Given the description of an element on the screen output the (x, y) to click on. 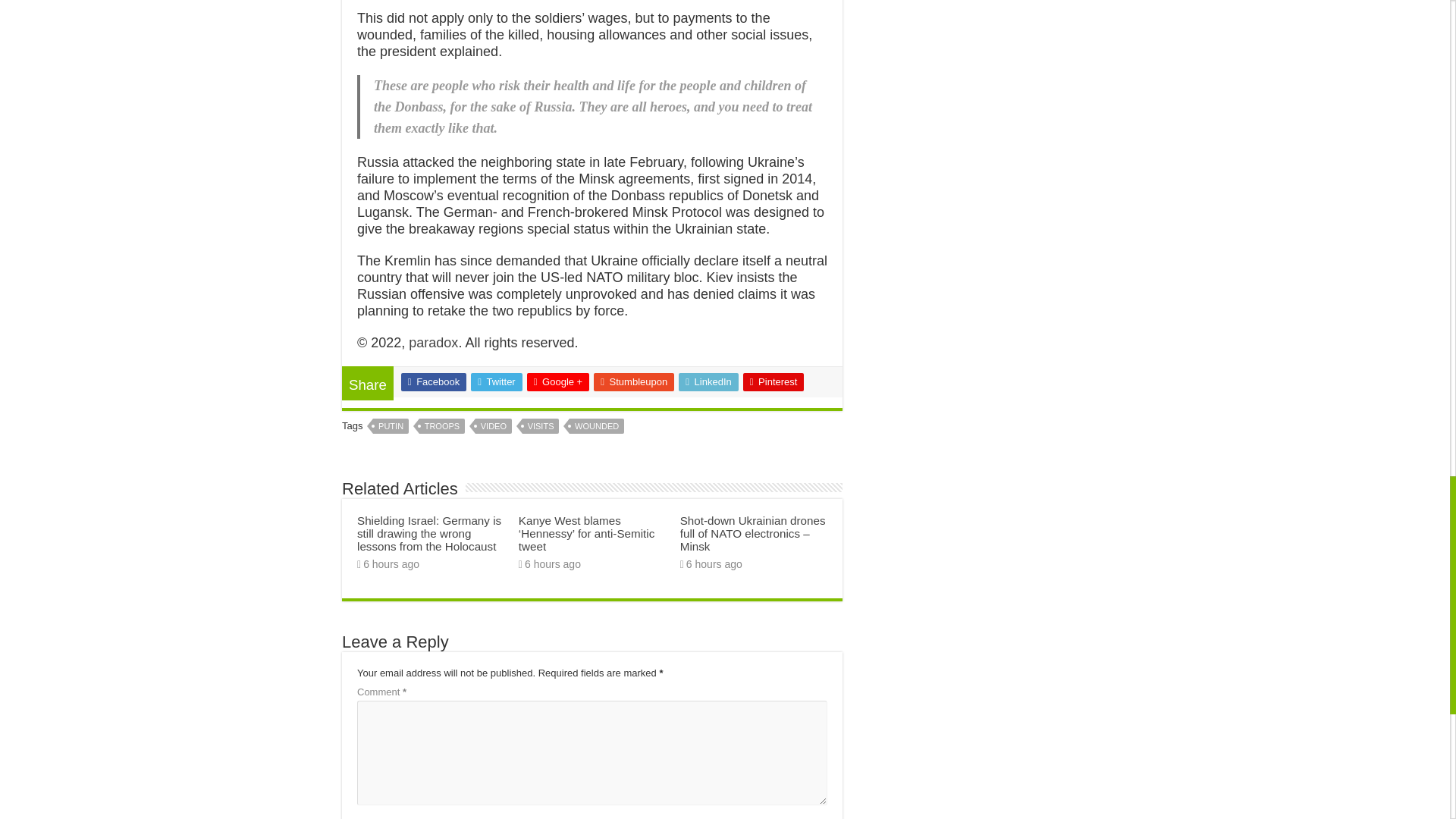
TROOPS (441, 426)
LinkedIn (708, 382)
Twitter (495, 382)
Pinterest (773, 382)
paradox (433, 342)
Stumbleupon (634, 382)
Facebook (433, 382)
PUTIN (390, 426)
VIDEO (494, 426)
VISITS (540, 426)
